Given the description of an element on the screen output the (x, y) to click on. 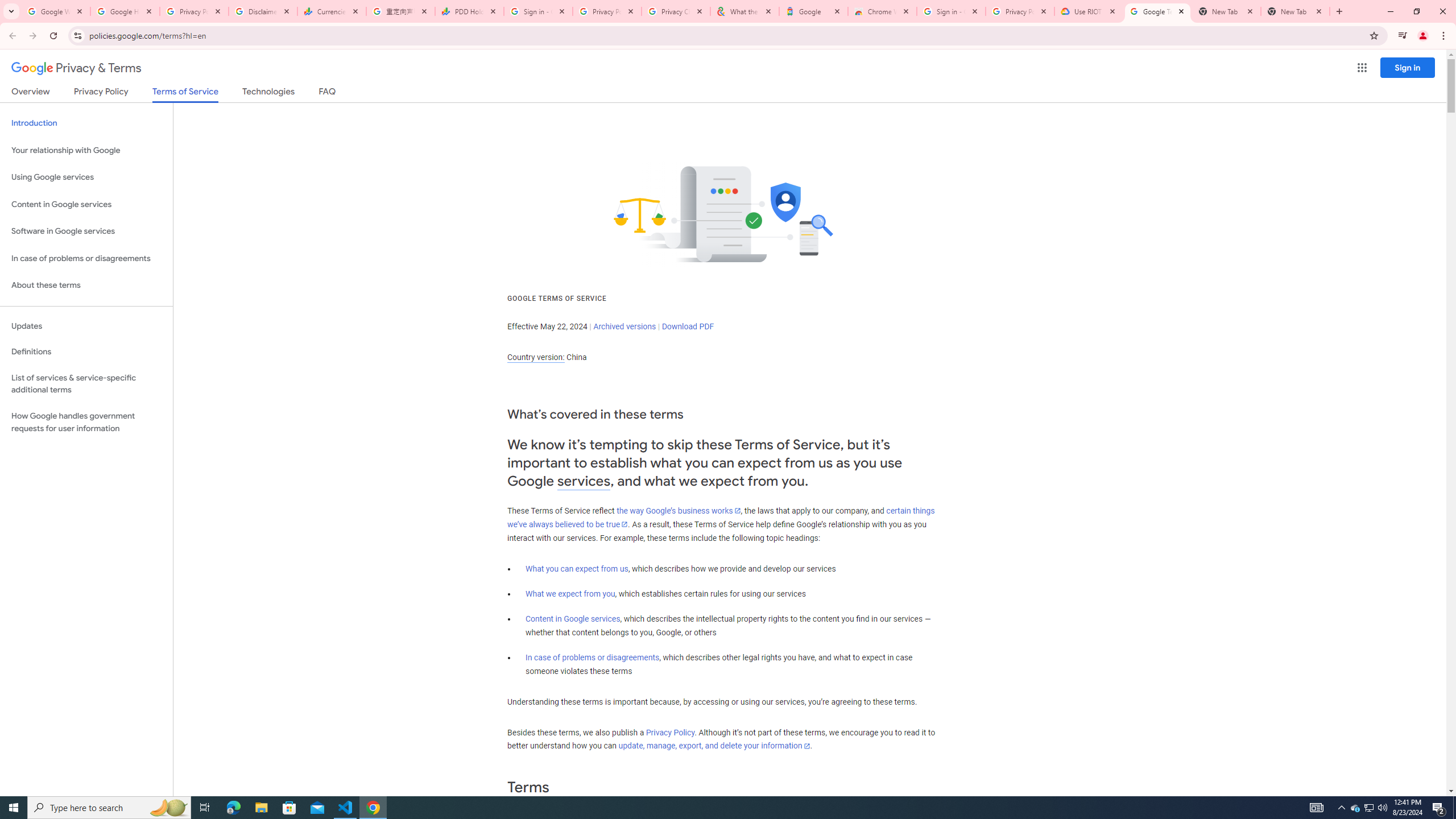
New Tab (1295, 11)
PDD Holdings Inc - ADR (PDD) Price & News - Google Finance (469, 11)
About these terms (86, 284)
What we expect from you (570, 593)
